Given the description of an element on the screen output the (x, y) to click on. 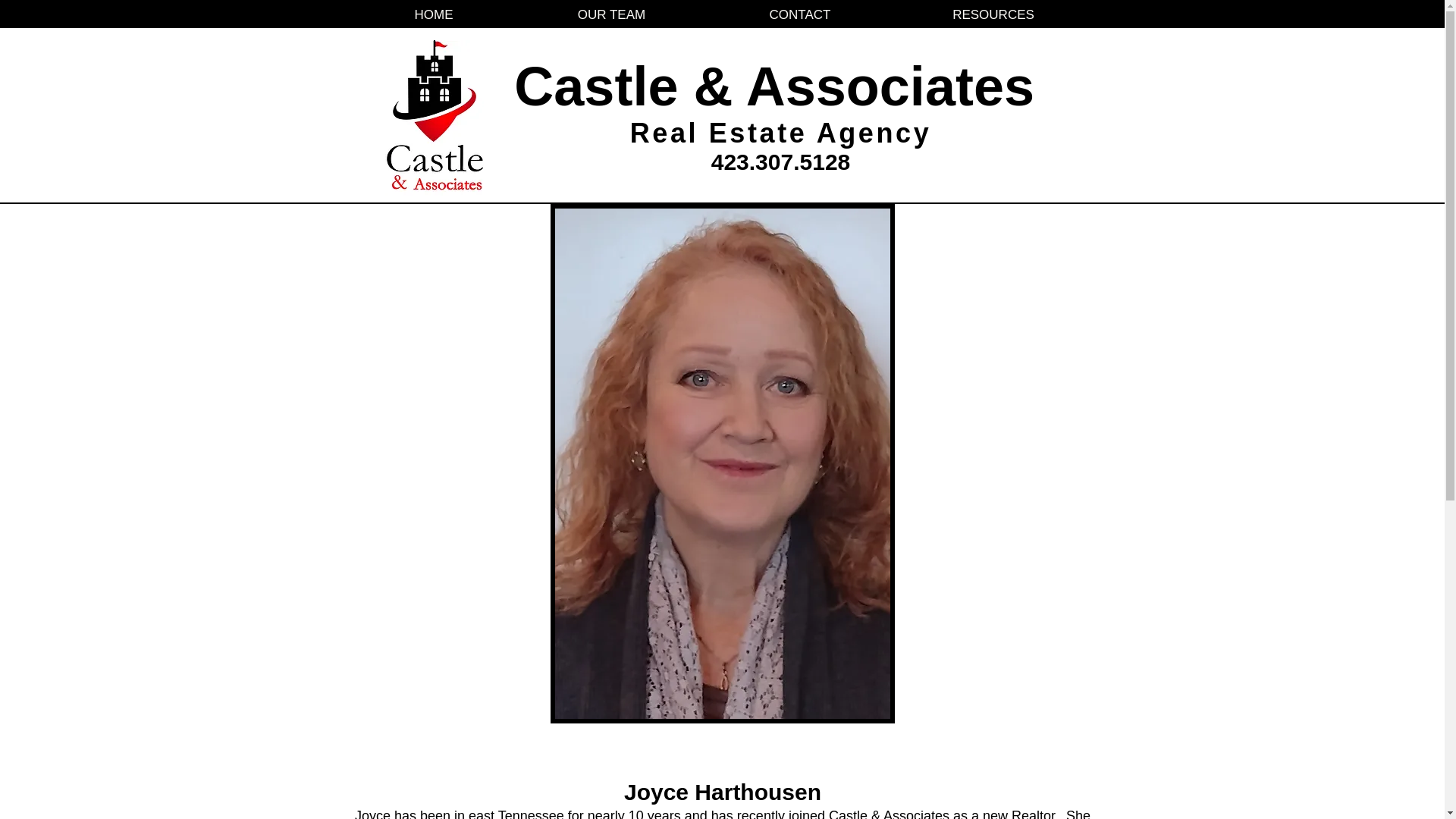
423.307.5128 (780, 161)
HOME (434, 14)
CONTACT (799, 14)
RESOURCES (993, 14)
Real Estate Agency (780, 132)
